Given the description of an element on the screen output the (x, y) to click on. 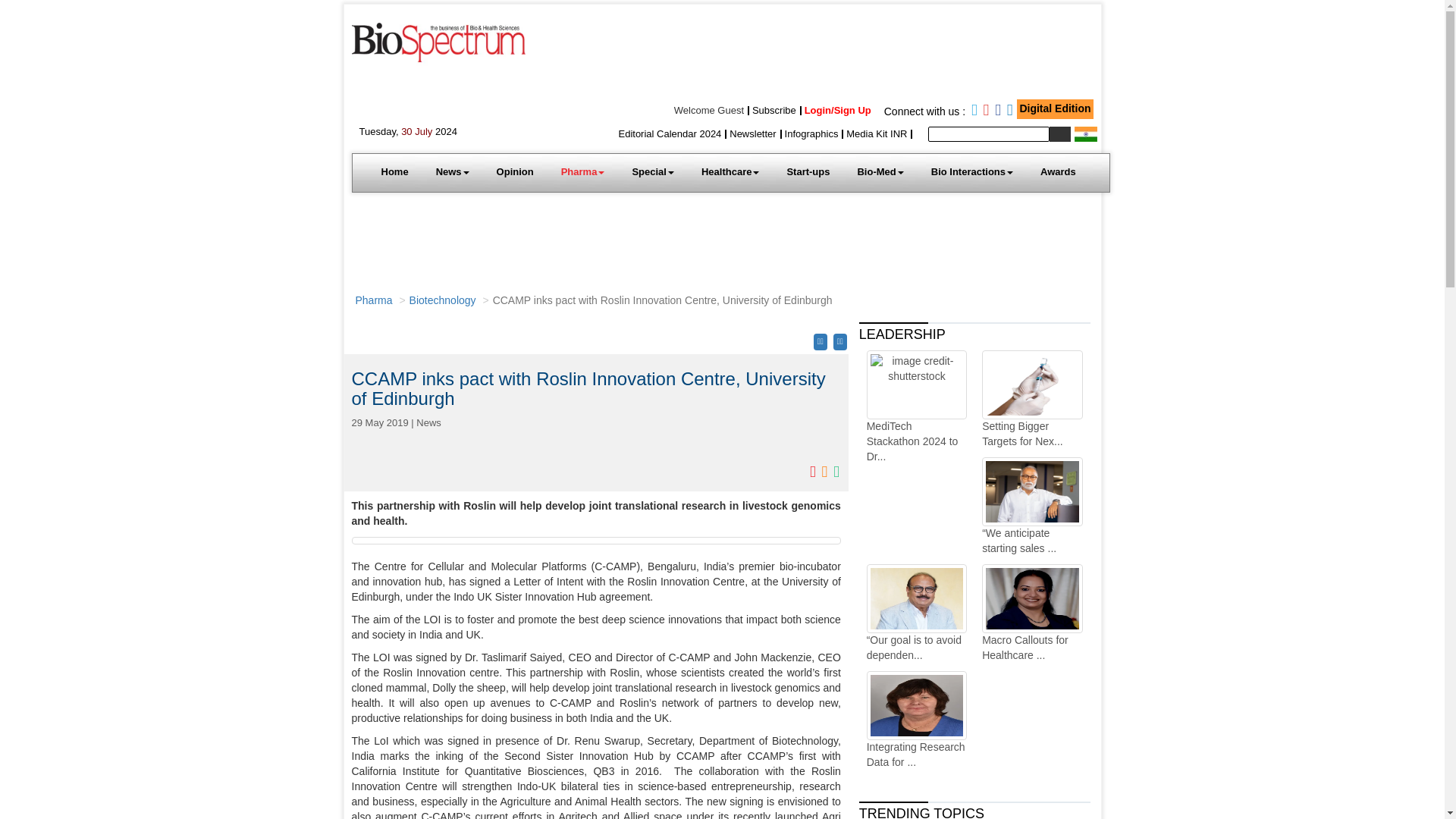
Healthcare (730, 171)
Newsletter (752, 133)
Setting Bigger Targets for Next-gen Vaccines (1031, 399)
News (452, 171)
Infographics (811, 133)
Editorial Calendar 2024 (668, 133)
Subscribe (774, 110)
Special (652, 171)
Opinion (515, 171)
Digital Edition (1054, 108)
Home (394, 171)
Macro Callouts for Healthcare Investing in India (1031, 613)
Media Kit INR (876, 133)
Pharma (582, 171)
